Given the description of an element on the screen output the (x, y) to click on. 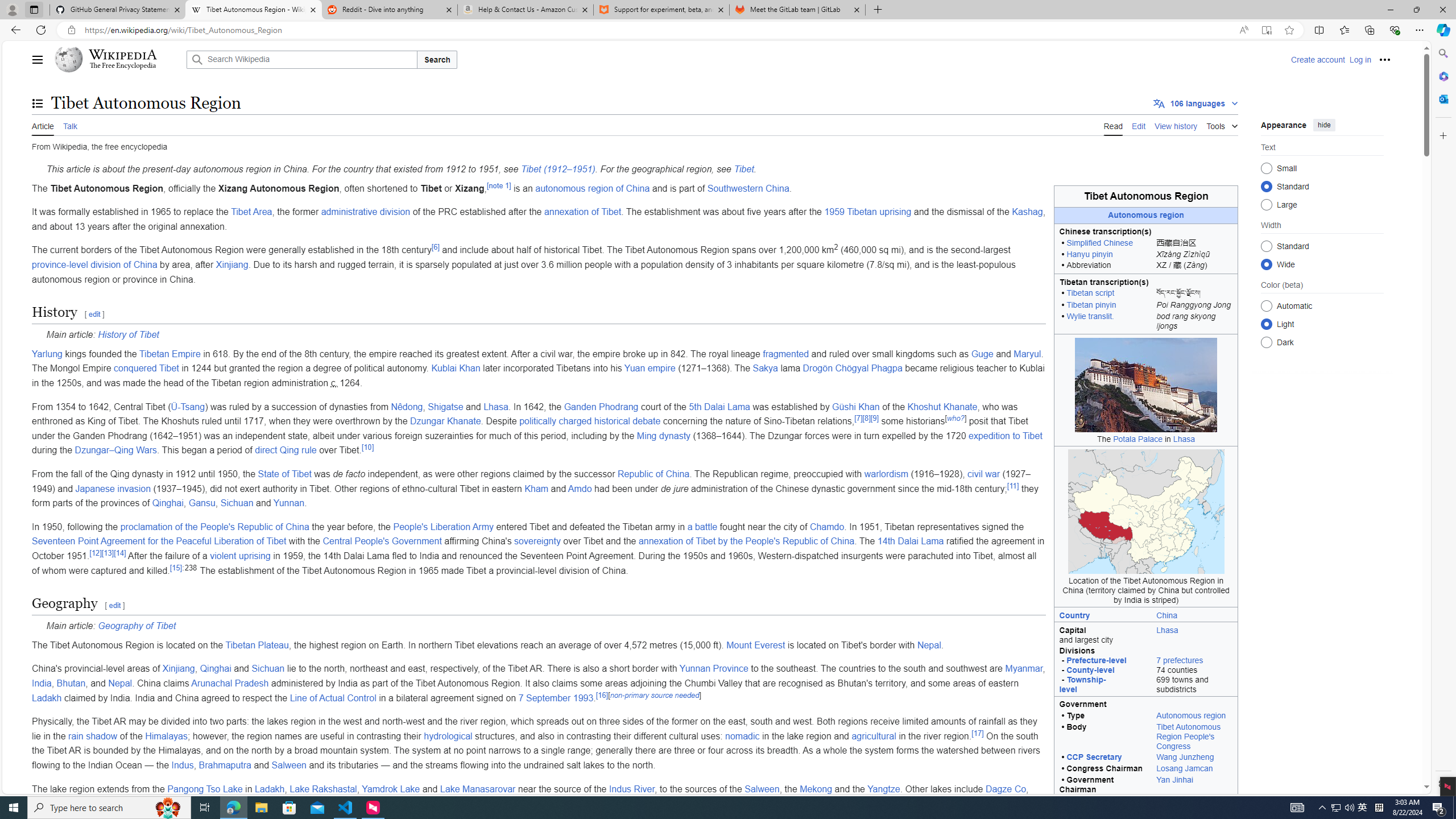
Myanmar (1023, 668)
non-primary source needed (654, 694)
Tools (1222, 124)
Edit (1138, 124)
Southwestern China (748, 188)
Salween (762, 788)
[7] (858, 417)
nomadic (742, 735)
Chamdo (826, 526)
administrative division (365, 212)
